Given the description of an element on the screen output the (x, y) to click on. 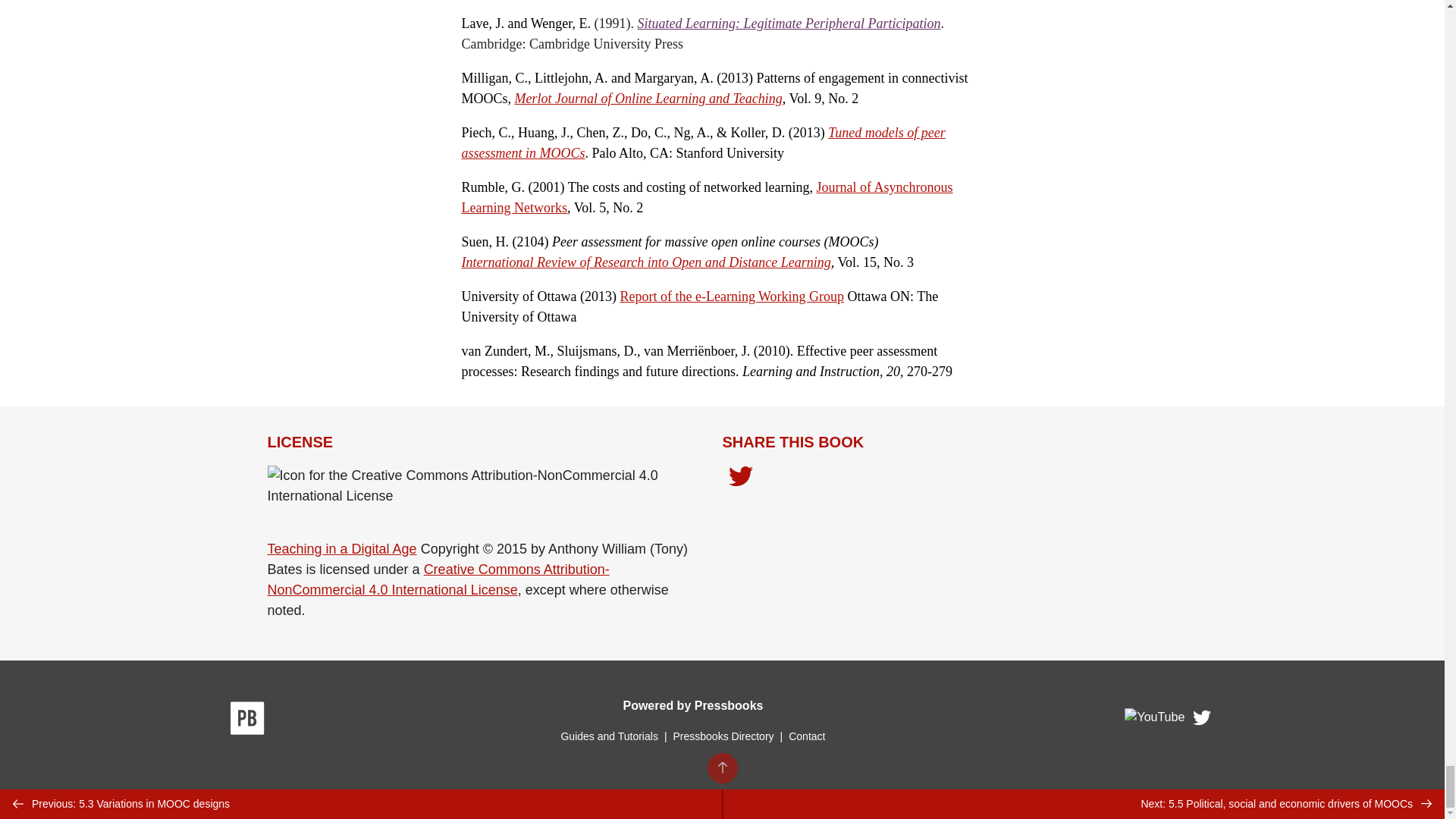
Share on Twitter (740, 477)
